Given the description of an element on the screen output the (x, y) to click on. 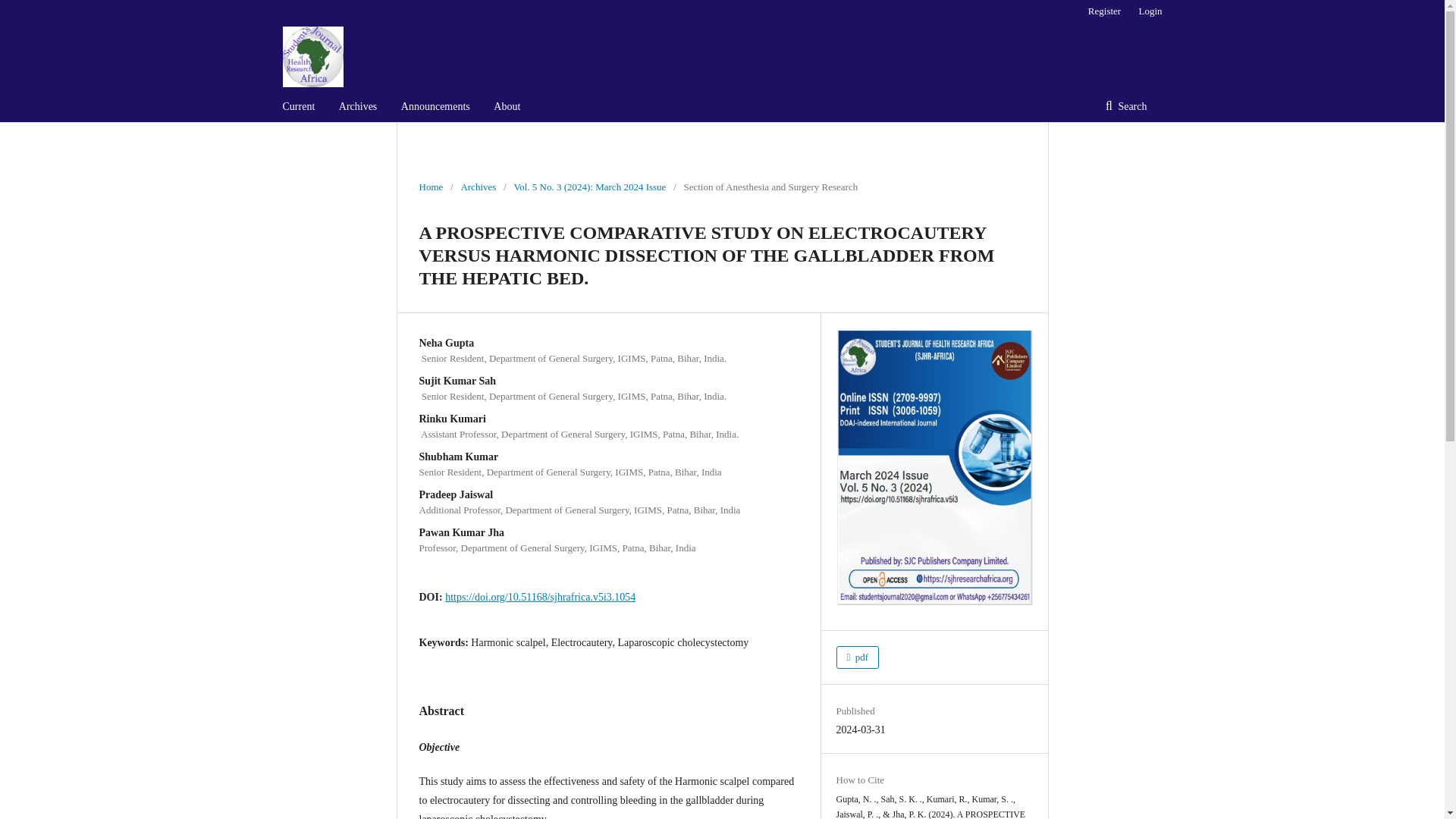
Register (1104, 11)
Search (1125, 106)
Login (1146, 11)
Archives (478, 186)
Current (298, 106)
Archives (358, 106)
Home (430, 186)
pdf (857, 657)
Announcements (435, 106)
